Given the description of an element on the screen output the (x, y) to click on. 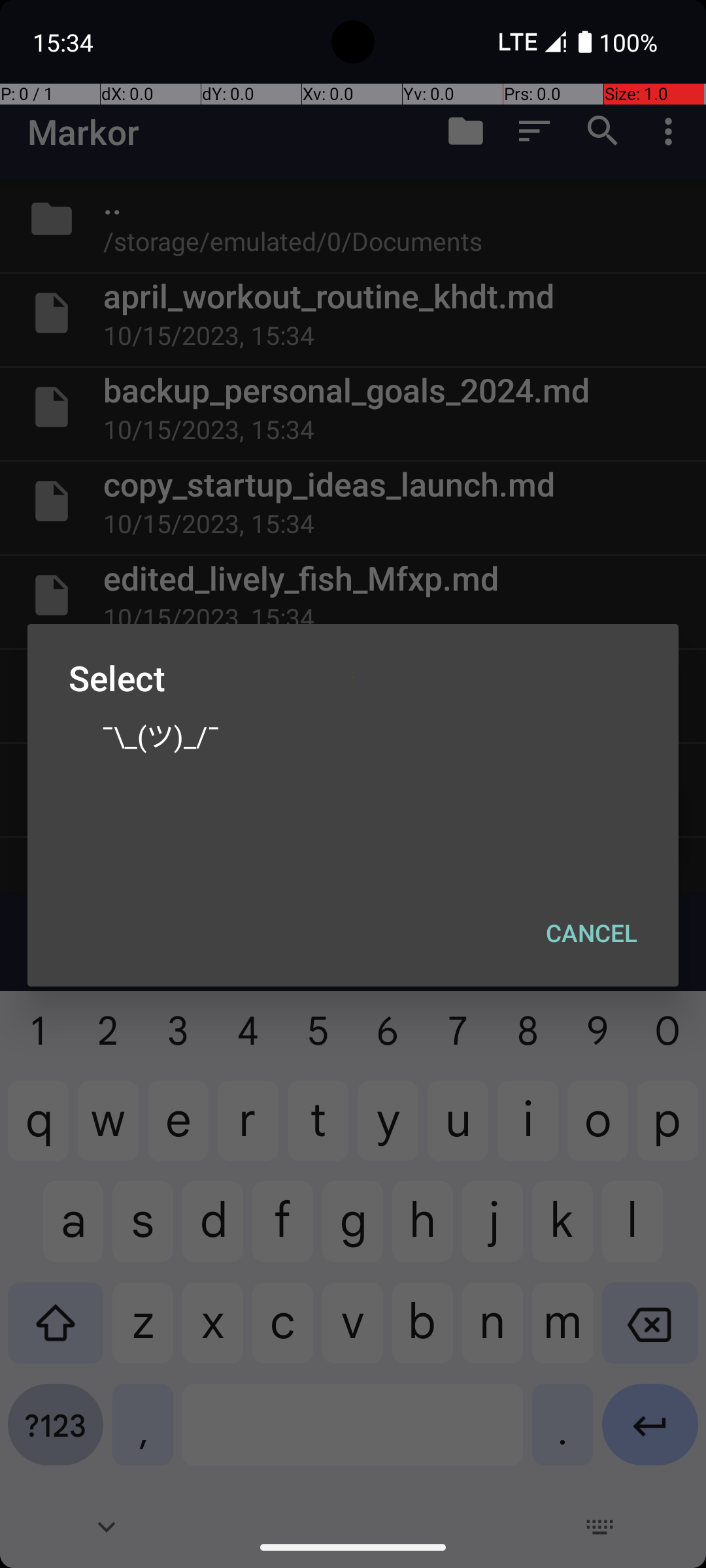
Select Element type: android.widget.TextView (352, 677)
     ¯\_(ツ)_/¯      Element type: android.widget.TextView (352, 734)
